Given the description of an element on the screen output the (x, y) to click on. 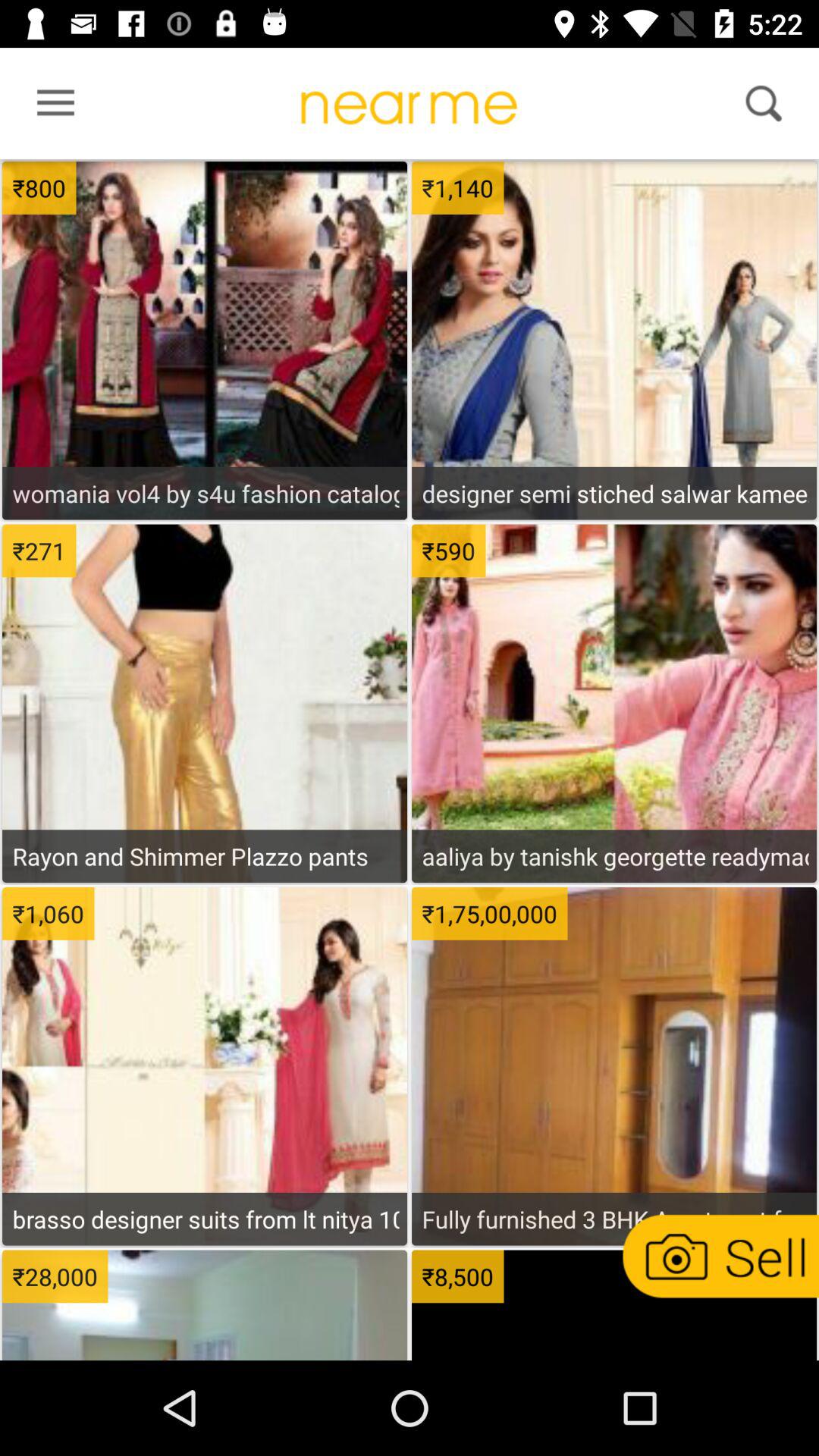
upload photos of the product to sell (719, 1255)
